Given the description of an element on the screen output the (x, y) to click on. 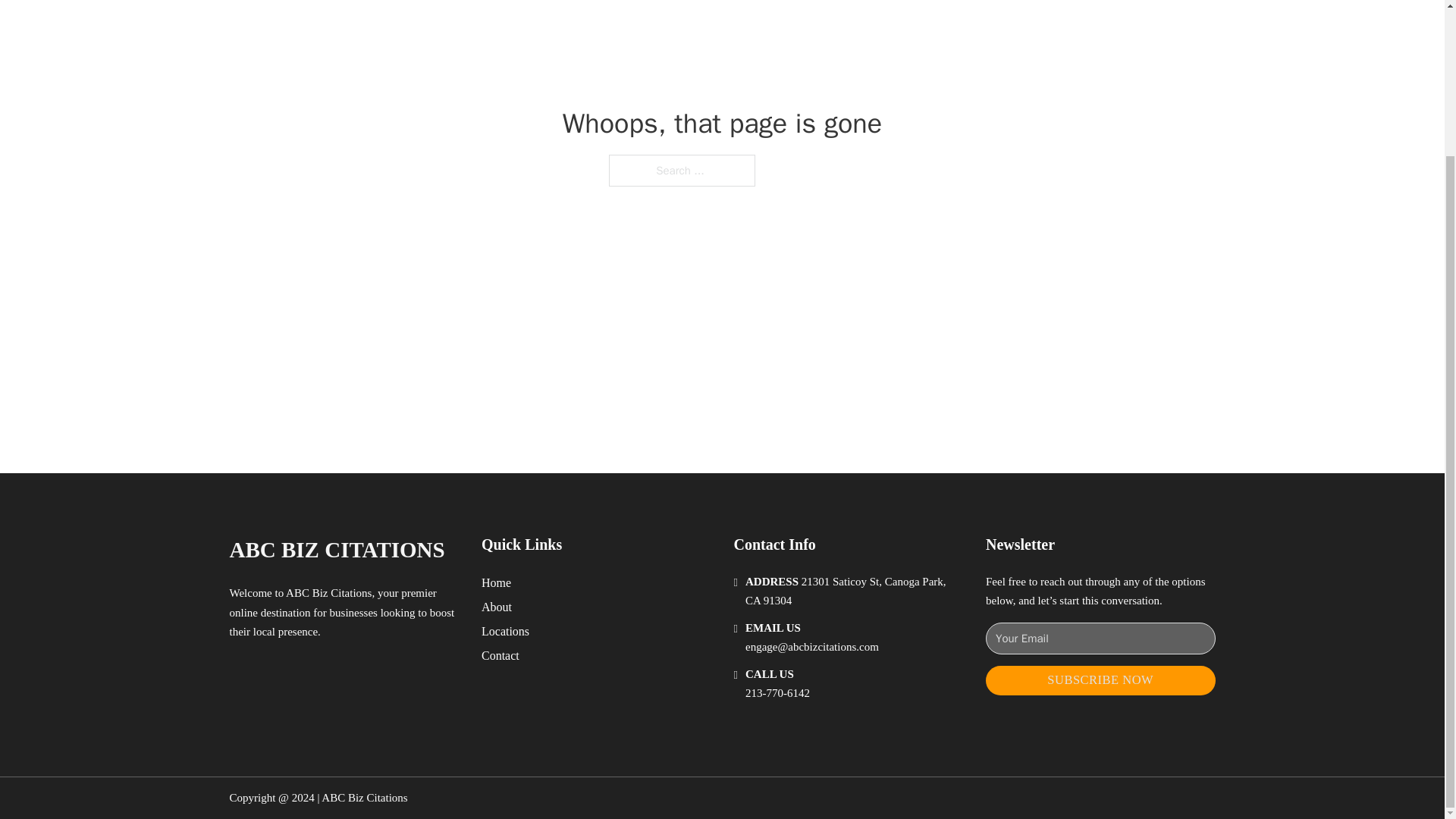
SUBSCRIBE NOW (1100, 680)
About (496, 607)
Locations (505, 630)
ABC BIZ CITATIONS (336, 549)
Home (496, 582)
Contact (500, 655)
213-770-6142 (777, 693)
